Given the description of an element on the screen output the (x, y) to click on. 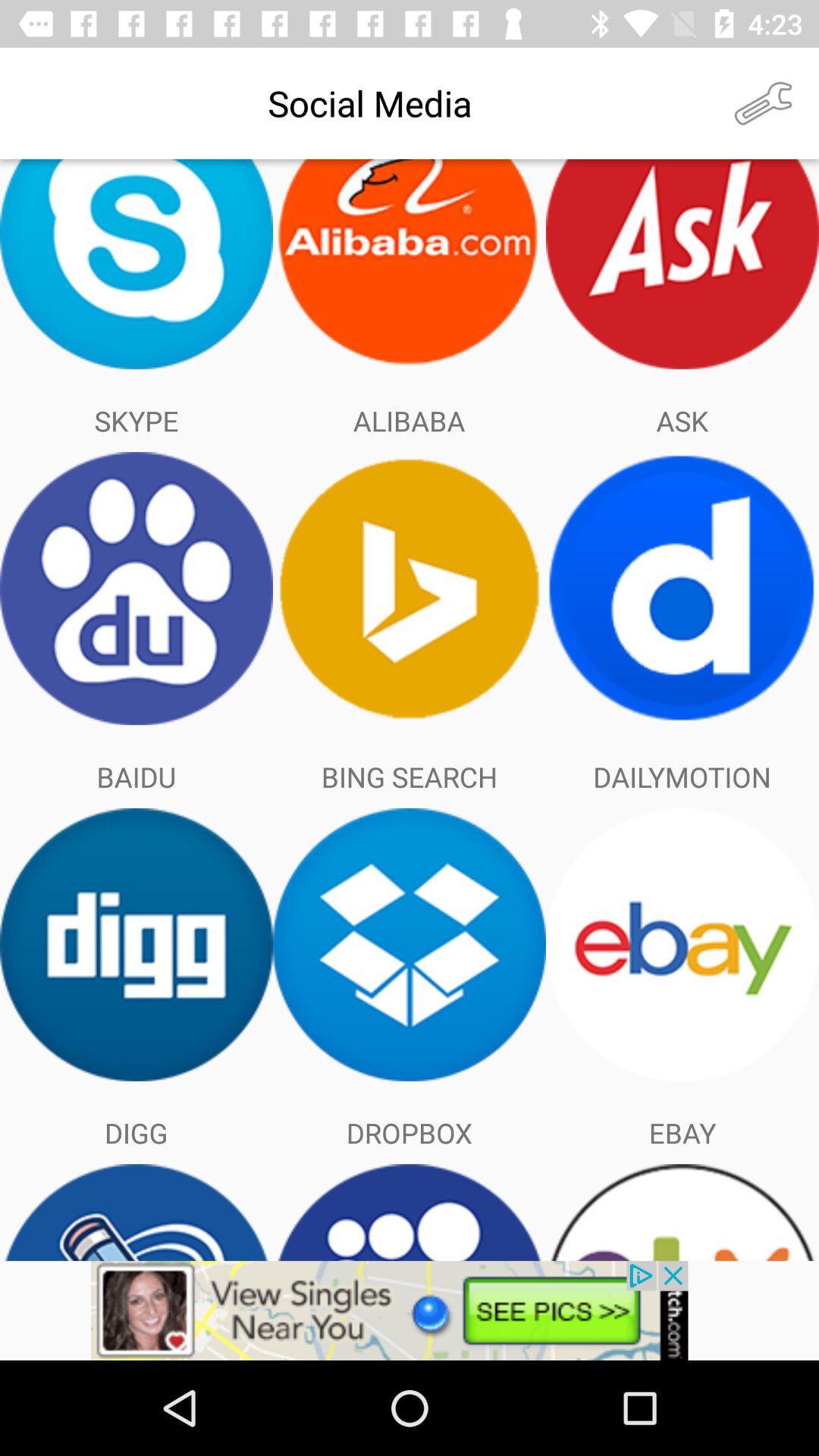
select advertisement (409, 1310)
